Given the description of an element on the screen output the (x, y) to click on. 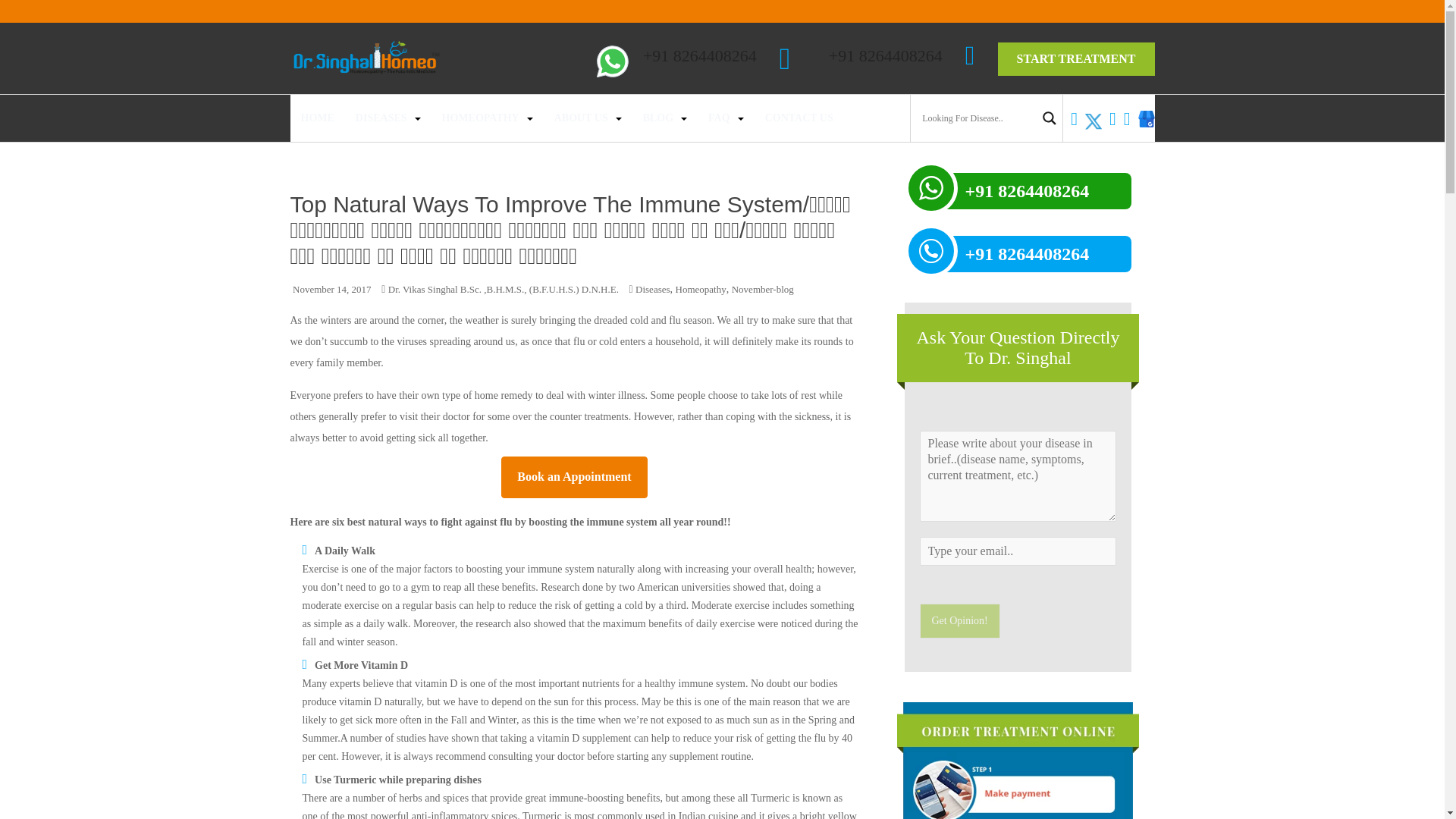
ABOUT US (581, 118)
HOMEOPATHY (480, 118)
DISEASES (381, 118)
START TREATMENT (1075, 59)
HOME (316, 118)
BLOG (657, 118)
